Given the description of an element on the screen output the (x, y) to click on. 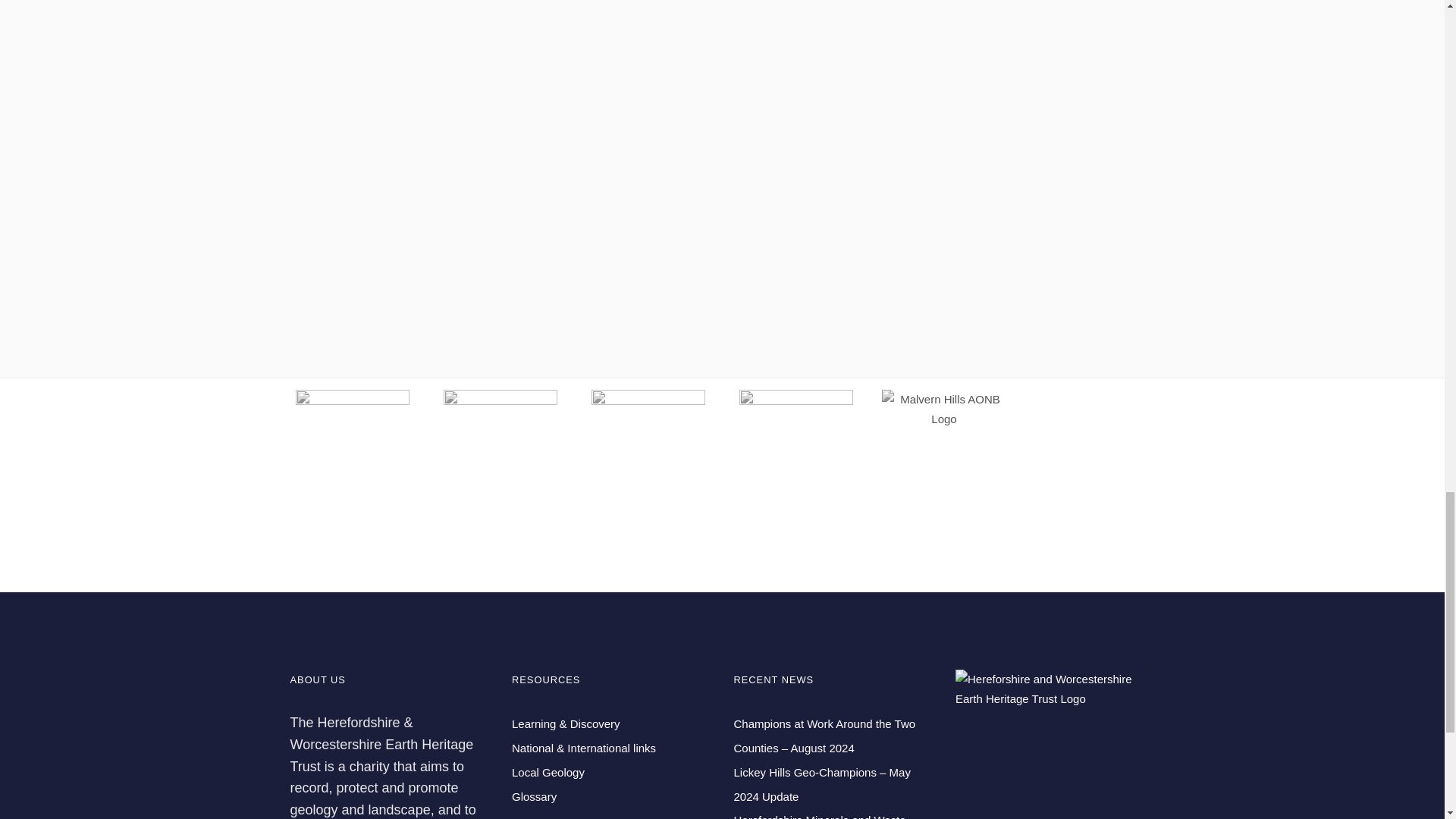
national-heritage-fund (352, 446)
malvern-hills-aonb (943, 408)
worcestershire-county-council-logo (647, 446)
university-worcester-logo (500, 446)
herefordshire-council (796, 446)
